Given the description of an element on the screen output the (x, y) to click on. 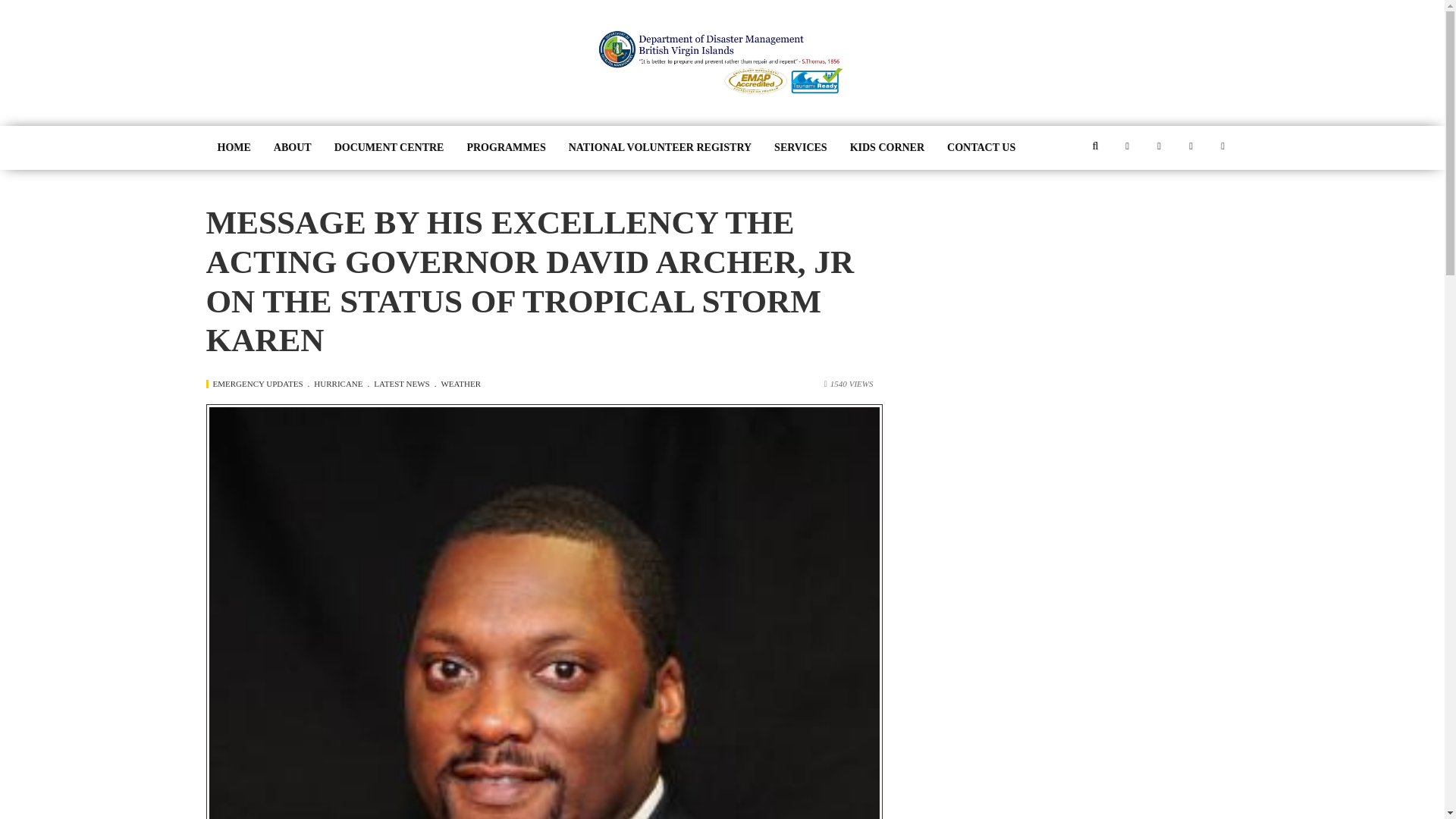
HOME (234, 147)
Weather (460, 383)
Emergency Updates (260, 383)
Hurricane (341, 383)
Latest News (404, 383)
ABOUT (292, 147)
